Given the description of an element on the screen output the (x, y) to click on. 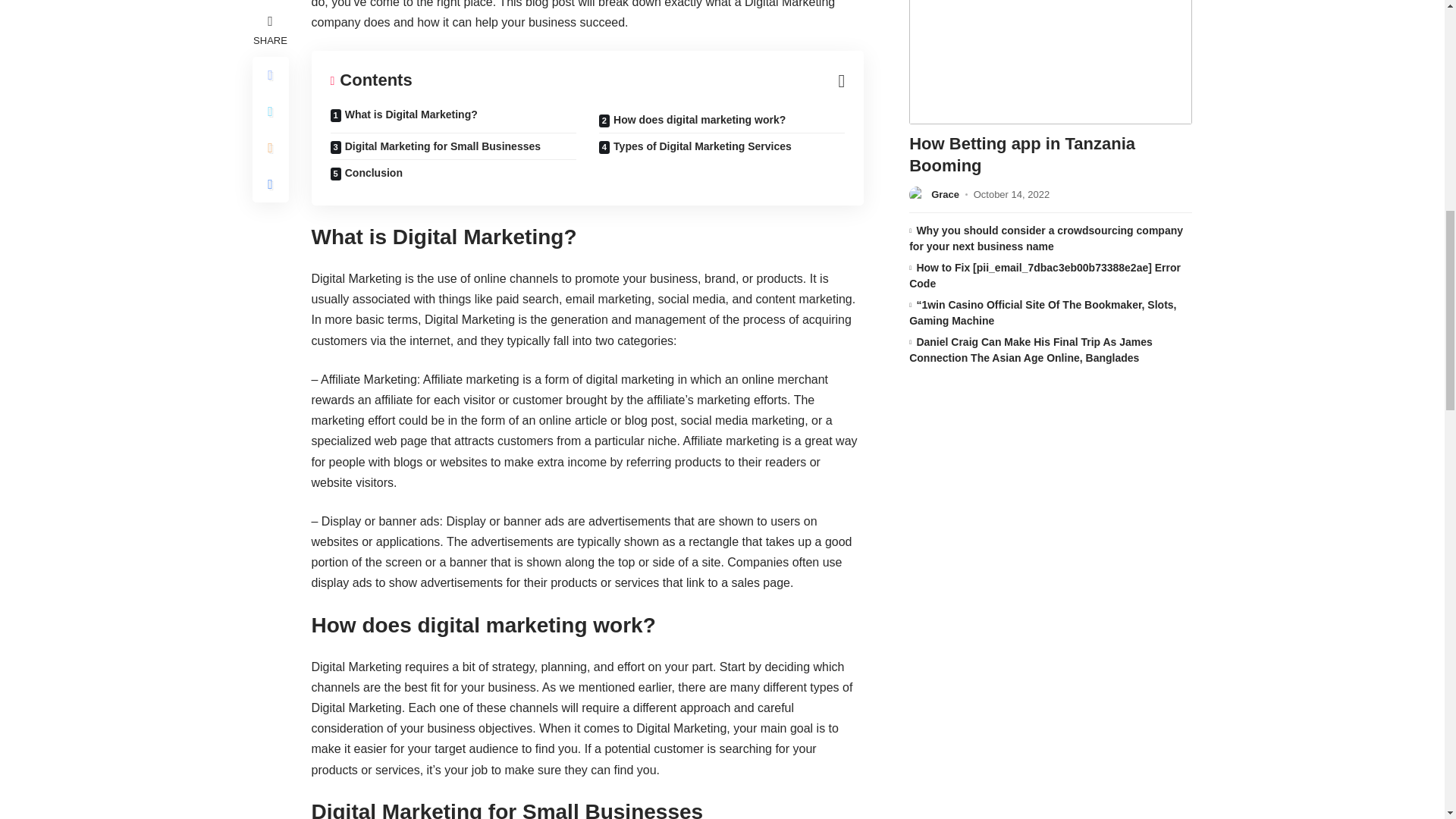
How Betting app in Tanzania Booming (1050, 62)
